Given the description of an element on the screen output the (x, y) to click on. 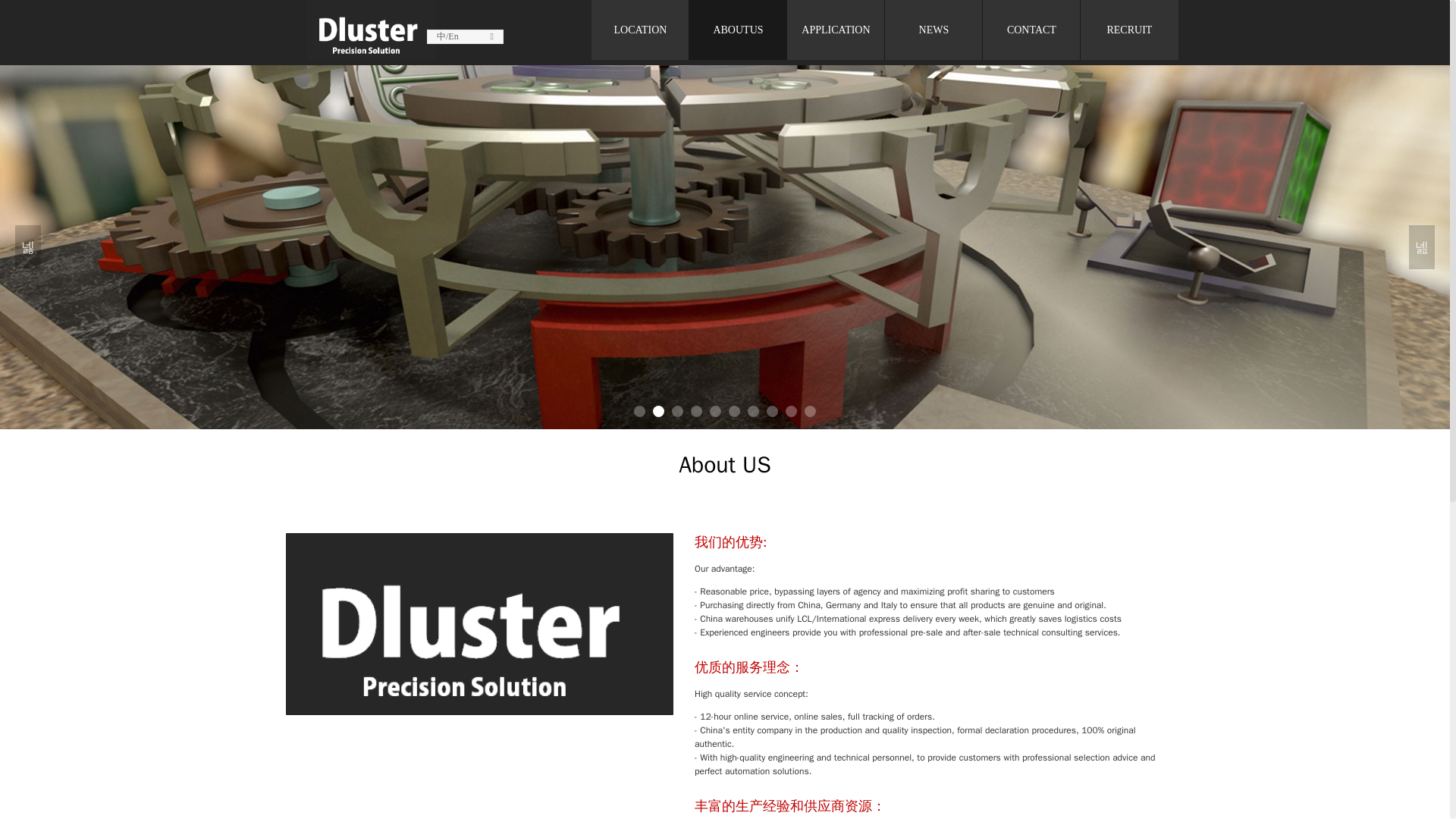
LOCATION (639, 29)
CONTACT (1031, 29)
APPLICATION (836, 29)
NEWS (933, 29)
RECRUIT (1128, 29)
ABOUTUS (737, 29)
